Given the description of an element on the screen output the (x, y) to click on. 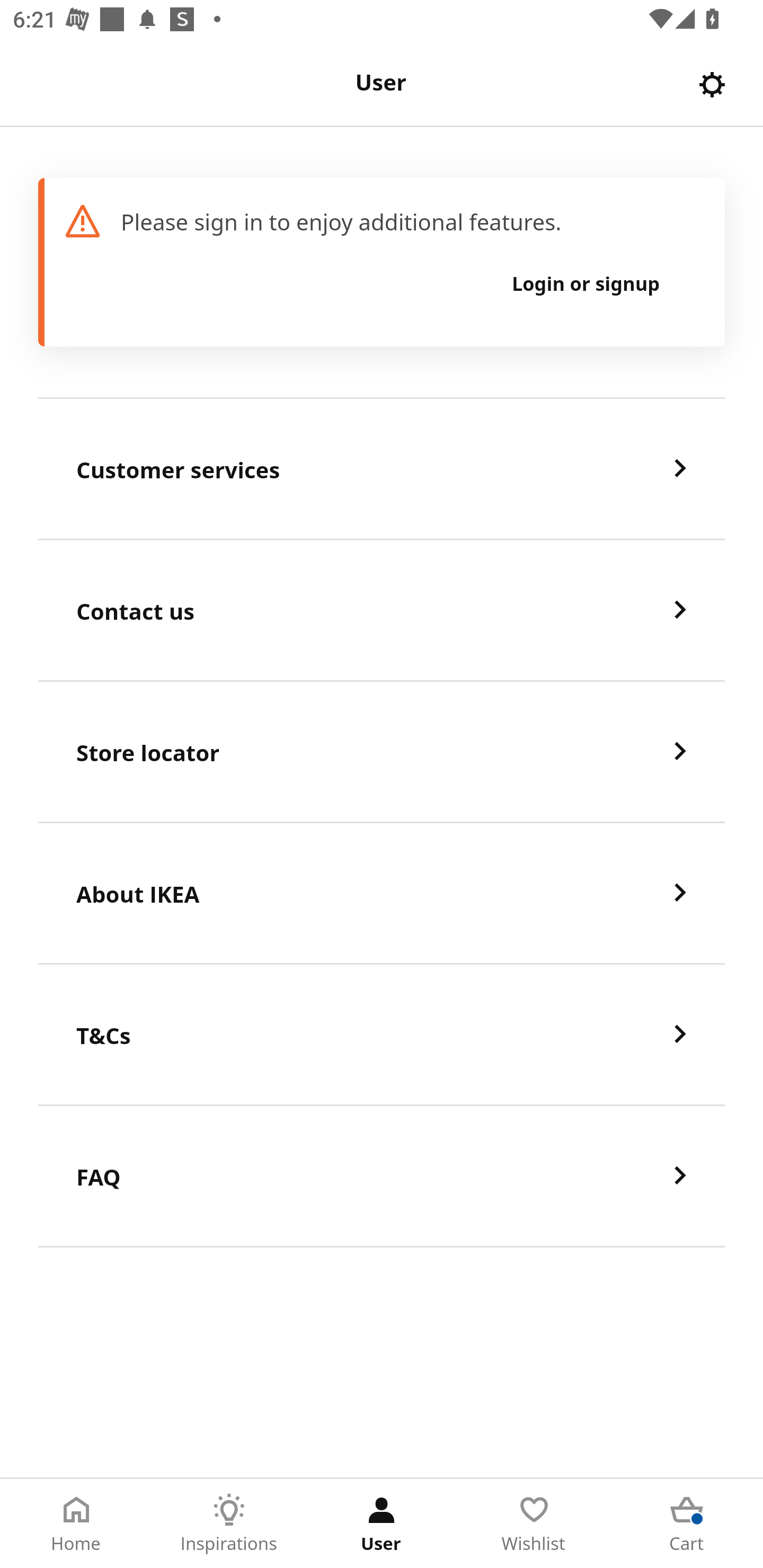
Login or signup (586, 282)
Customer services (381, 469)
Contact us (381, 611)
Store locator (381, 752)
About IKEA (381, 893)
T&Cs (381, 1034)
FAQ (381, 1176)
Home
Tab 1 of 5 (76, 1522)
Inspirations
Tab 2 of 5 (228, 1522)
User
Tab 3 of 5 (381, 1522)
Wishlist
Tab 4 of 5 (533, 1522)
Cart
Tab 5 of 5 (686, 1522)
